Given the description of an element on the screen output the (x, y) to click on. 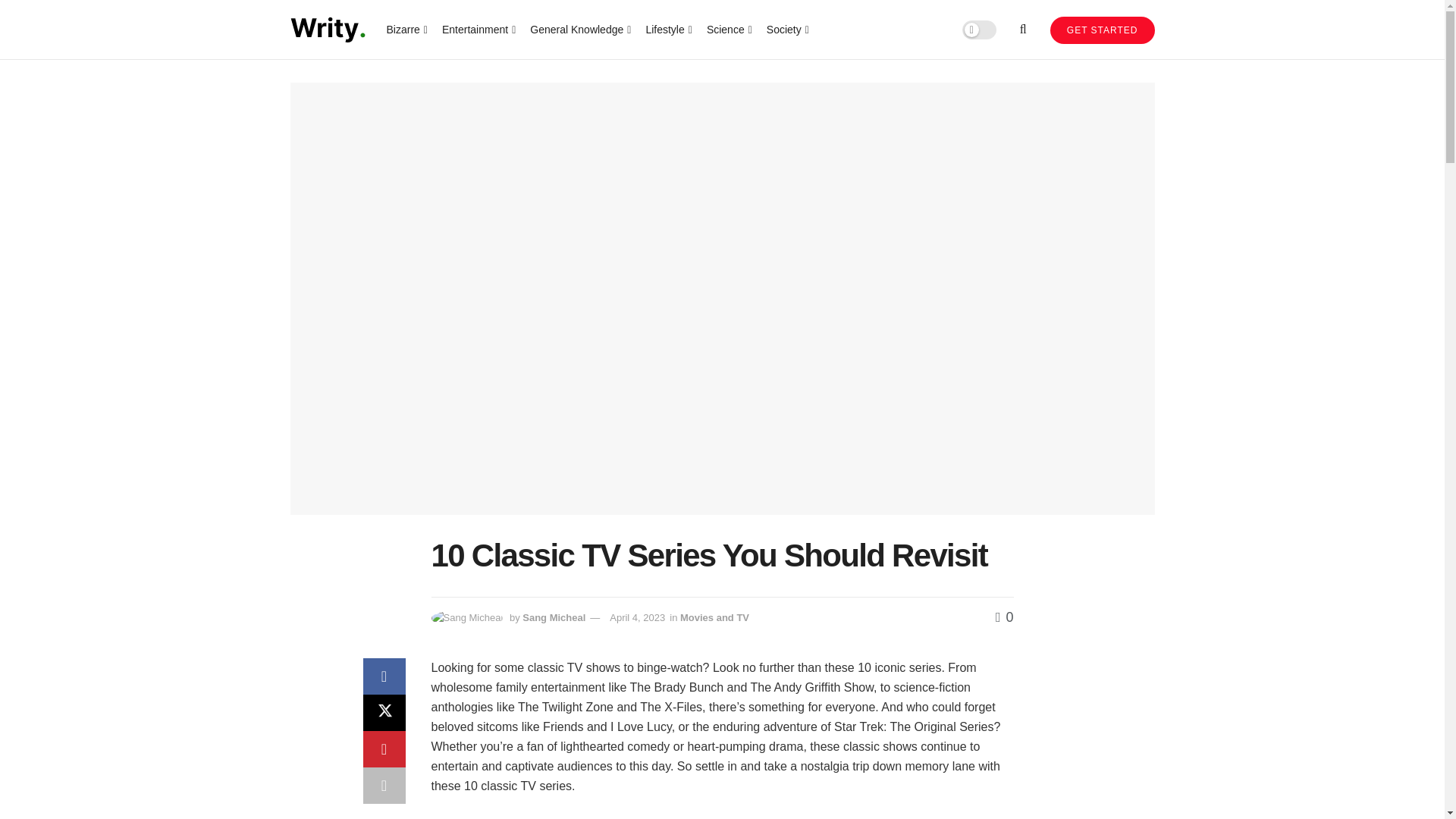
Bizarre (406, 29)
Society (786, 29)
Lifestyle (666, 29)
Entertainment (477, 29)
General Knowledge (578, 29)
Science (727, 29)
GET STARTED (1101, 30)
